Given the description of an element on the screen output the (x, y) to click on. 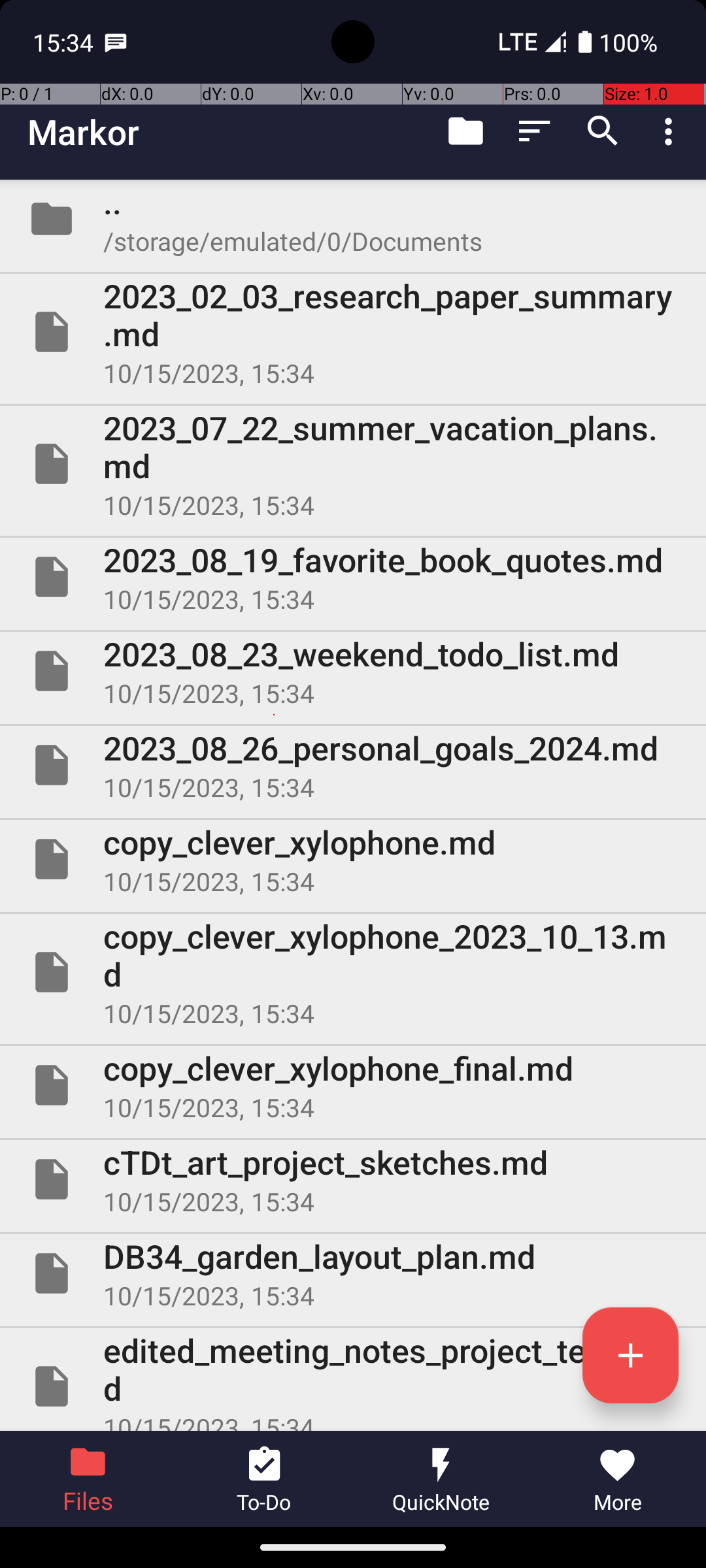
File 2023_02_03_research_paper_summary.md  Element type: android.widget.LinearLayout (353, 331)
File 2023_07_22_summer_vacation_plans.md  Element type: android.widget.LinearLayout (353, 463)
File 2023_08_19_favorite_book_quotes.md  Element type: android.widget.LinearLayout (353, 576)
File 2023_08_23_weekend_todo_list.md  Element type: android.widget.LinearLayout (353, 670)
File 2023_08_26_personal_goals_2024.md  Element type: android.widget.LinearLayout (353, 764)
File copy_clever_xylophone.md  Element type: android.widget.LinearLayout (353, 858)
File copy_clever_xylophone_2023_10_13.md  Element type: android.widget.LinearLayout (353, 972)
File copy_clever_xylophone_final.md  Element type: android.widget.LinearLayout (353, 1084)
File cTDt_art_project_sketches.md  Element type: android.widget.LinearLayout (353, 1179)
File DB34_garden_layout_plan.md  Element type: android.widget.LinearLayout (353, 1273)
File edited_meeting_notes_project_team.md  Element type: android.widget.LinearLayout (353, 1379)
